Given the description of an element on the screen output the (x, y) to click on. 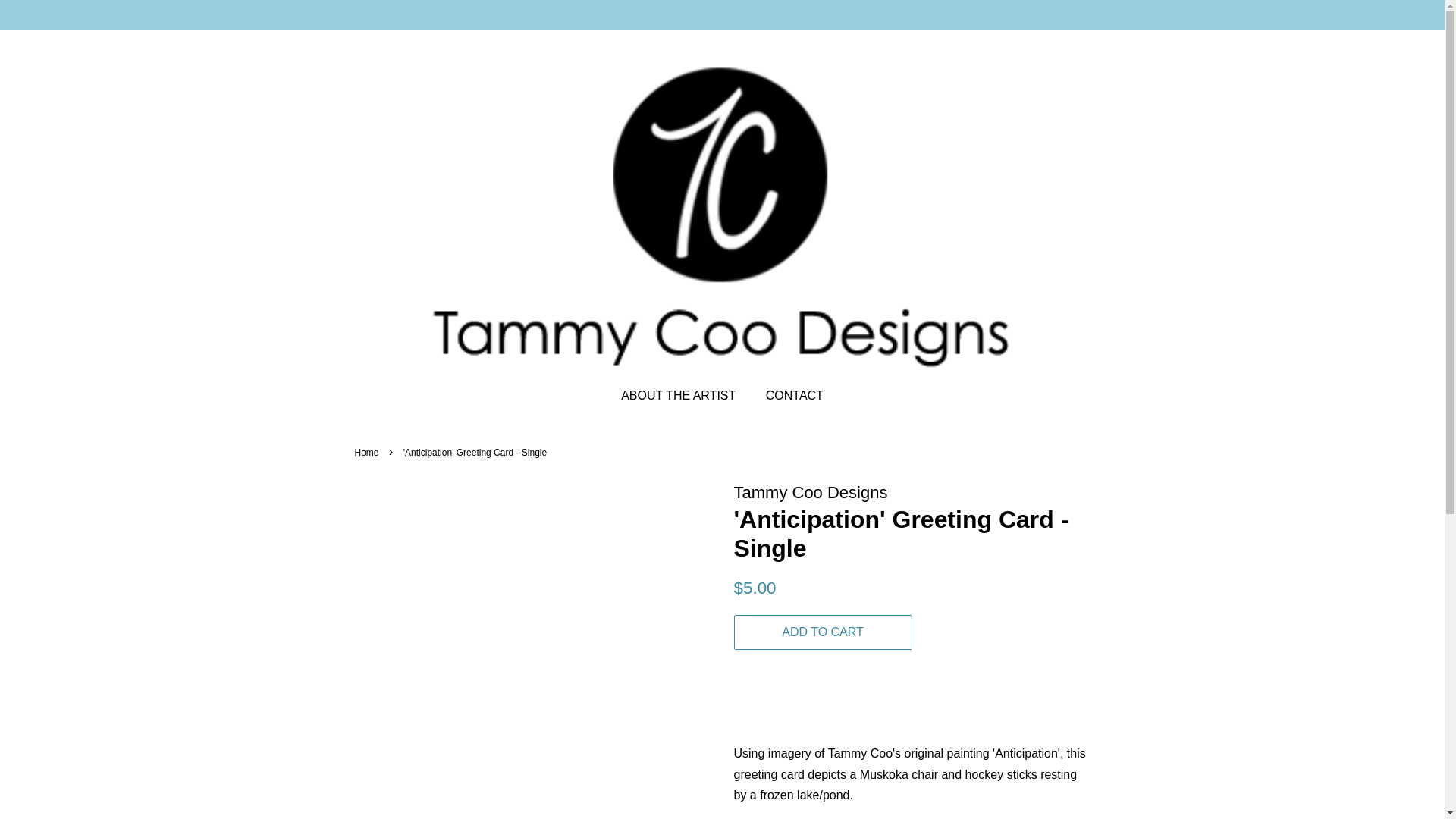
ADD TO CART (822, 632)
CONTACT (789, 395)
Home (368, 452)
ABOUT THE ARTIST (686, 395)
Back to the frontpage (368, 452)
